Given the description of an element on the screen output the (x, y) to click on. 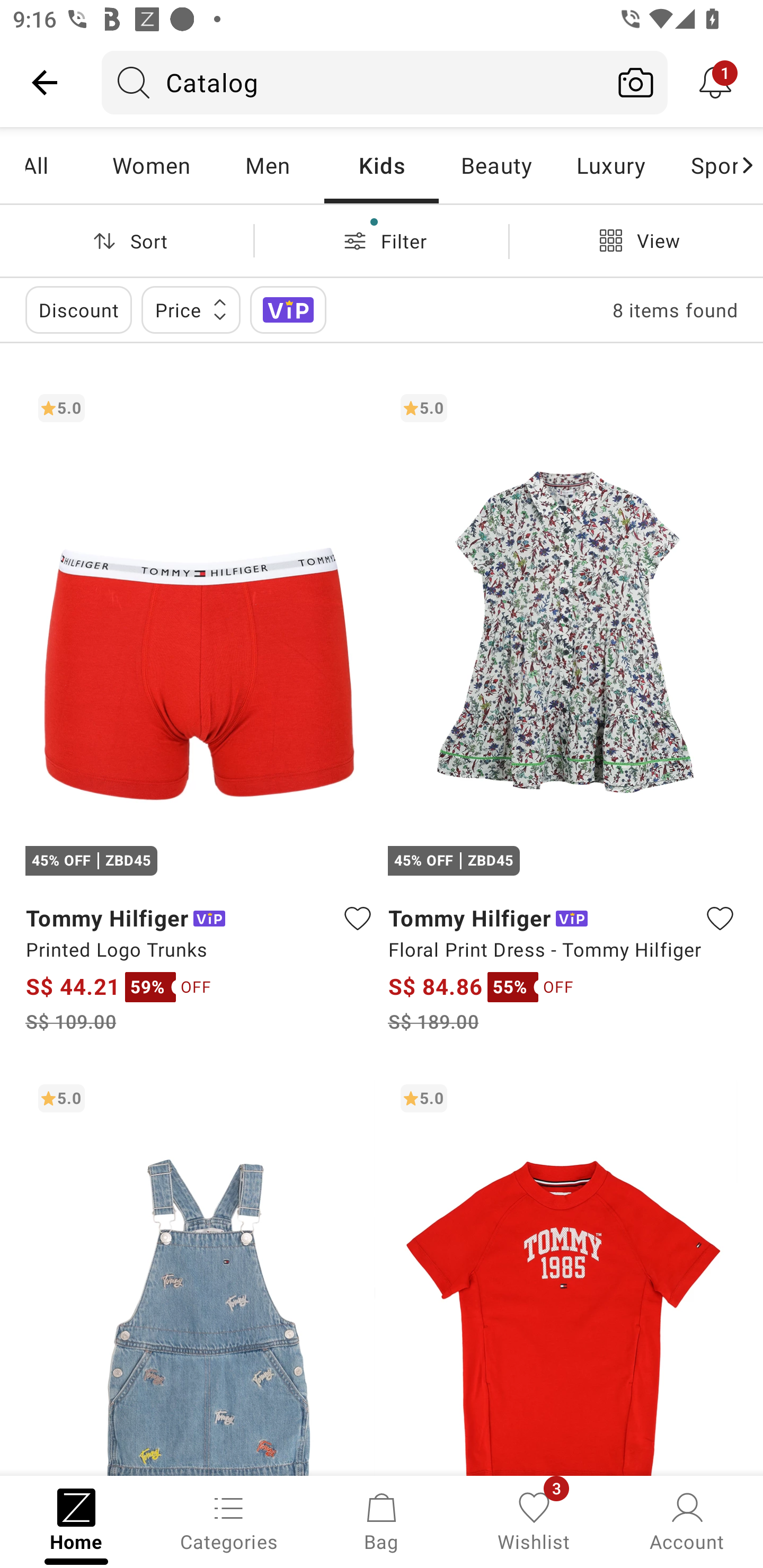
Navigate up (44, 82)
Catalog (352, 82)
All (59, 165)
Women (151, 165)
Men (266, 165)
Beauty (495, 165)
Luxury (610, 165)
Sort (126, 240)
Filter (381, 240)
View (636, 240)
Discount (78, 309)
Price (190, 309)
5.0 (200, 1272)
5.0 (562, 1272)
Categories (228, 1519)
Bag (381, 1519)
Wishlist, 3 new notifications Wishlist (533, 1519)
Account (686, 1519)
